Given the description of an element on the screen output the (x, y) to click on. 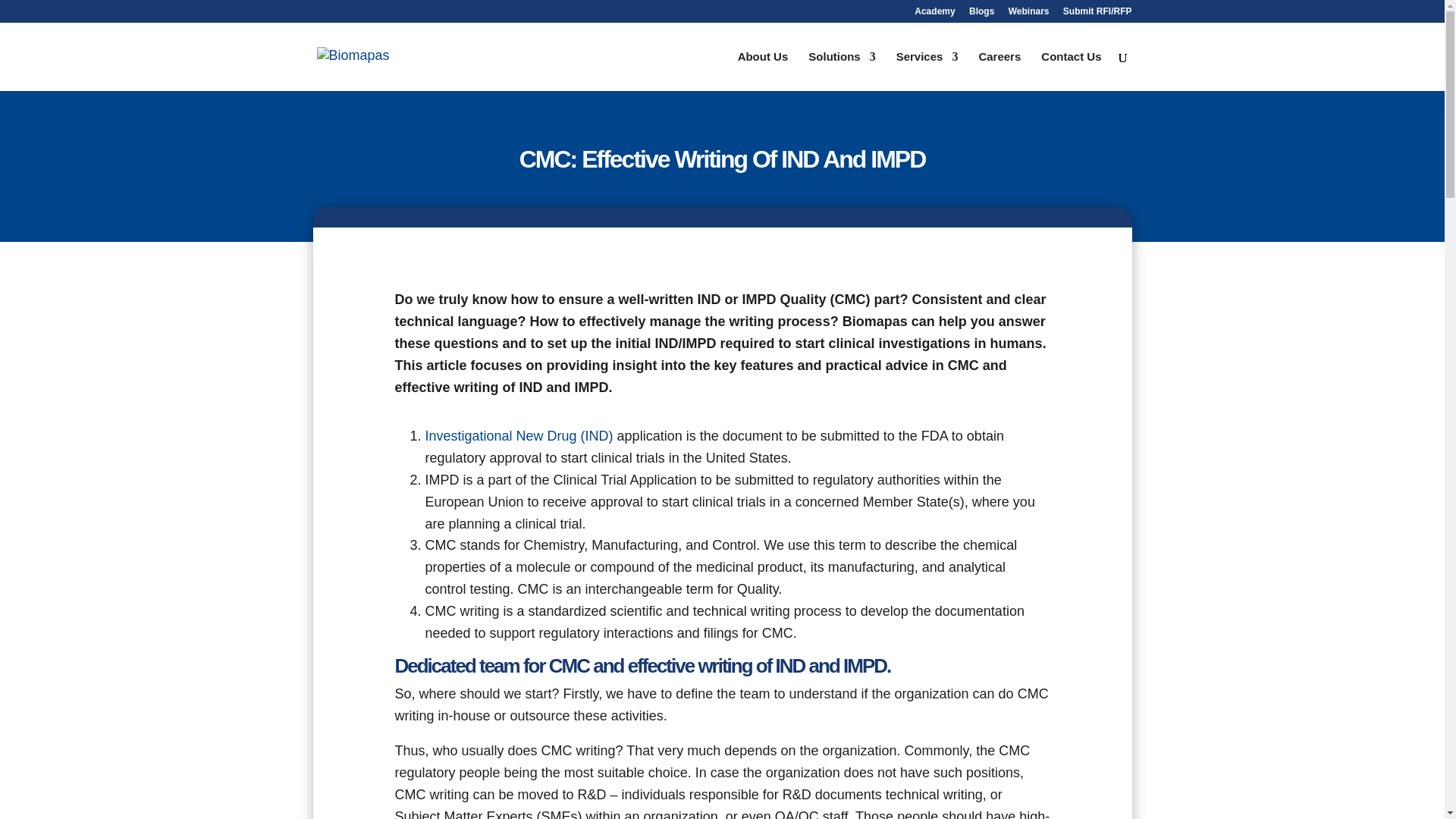
Webinars (1029, 14)
Contact Us (1070, 70)
Blogs (981, 14)
Services (927, 70)
Academy (934, 14)
Solutions (841, 70)
About Us (763, 70)
Careers (999, 70)
